Given the description of an element on the screen output the (x, y) to click on. 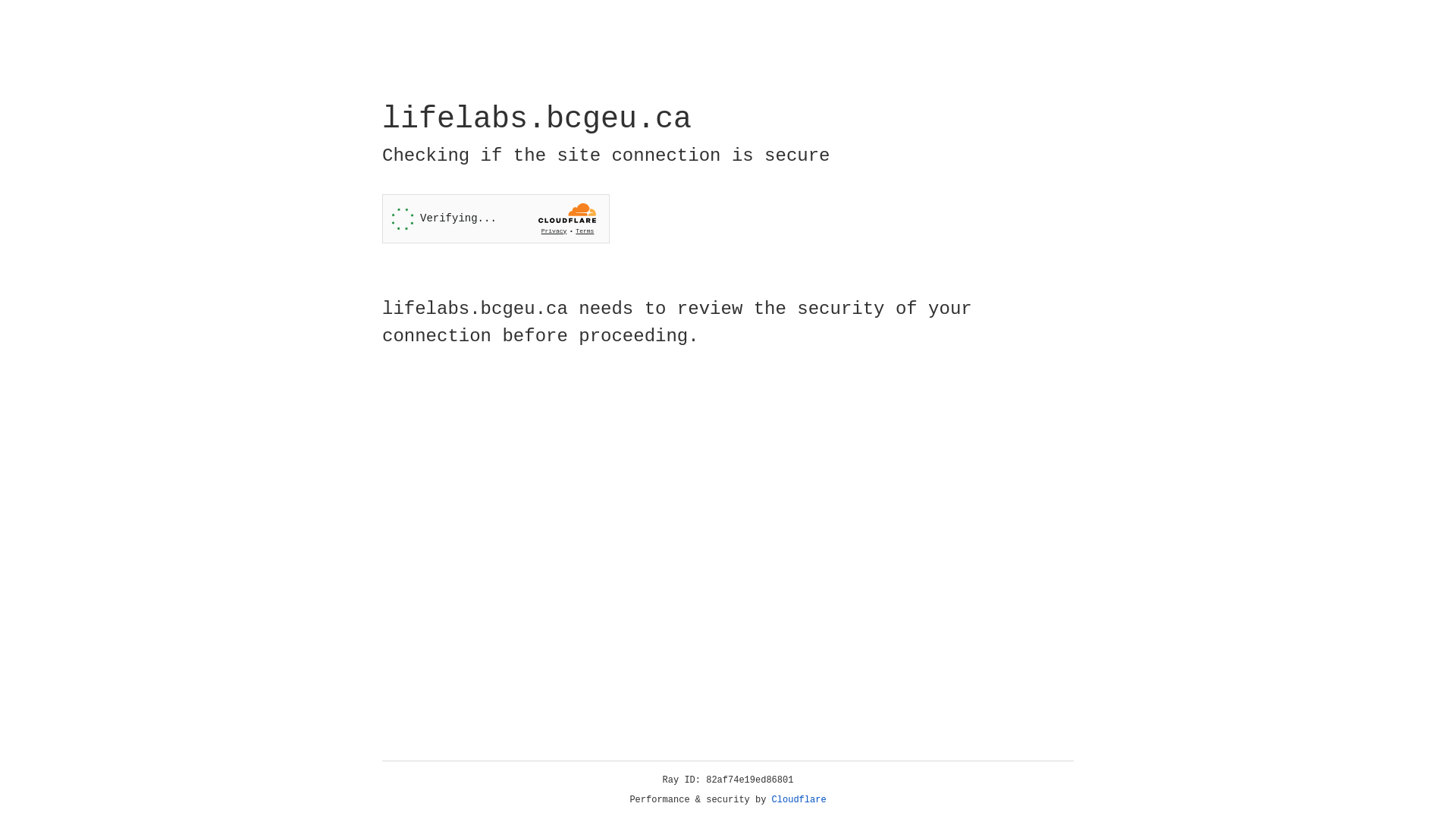
Cloudflare Element type: text (798, 799)
Widget containing a Cloudflare security challenge Element type: hover (495, 218)
